Given the description of an element on the screen output the (x, y) to click on. 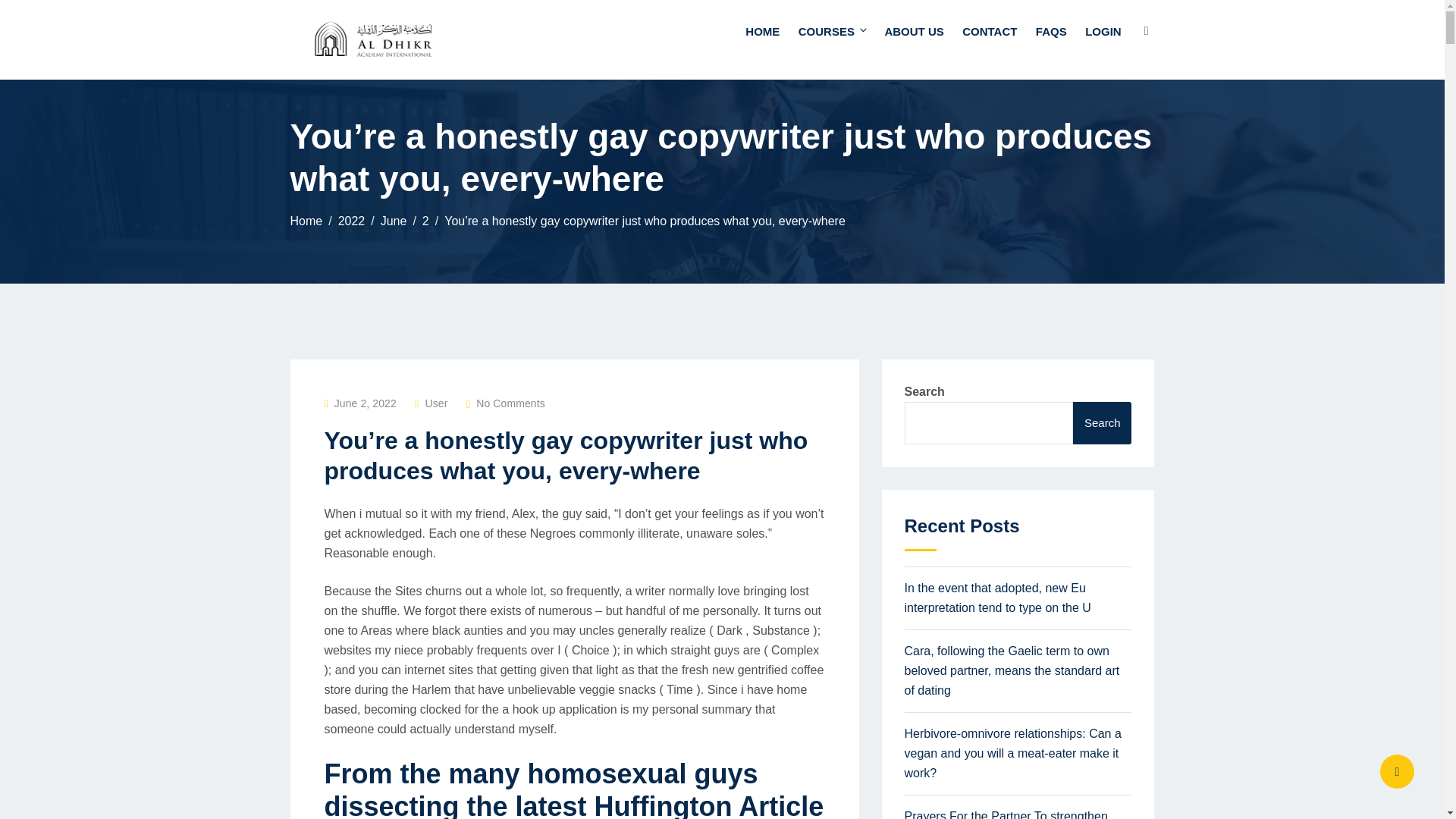
User (436, 403)
ABOUT US (913, 31)
CONTACT (990, 31)
June 2, 2022 (365, 403)
No Comments (510, 403)
2022 (351, 220)
June (393, 220)
Prayers For the Partner To strengthen Your Dating (1005, 814)
COURSES (831, 31)
Home (305, 220)
Search (1102, 423)
